Given the description of an element on the screen output the (x, y) to click on. 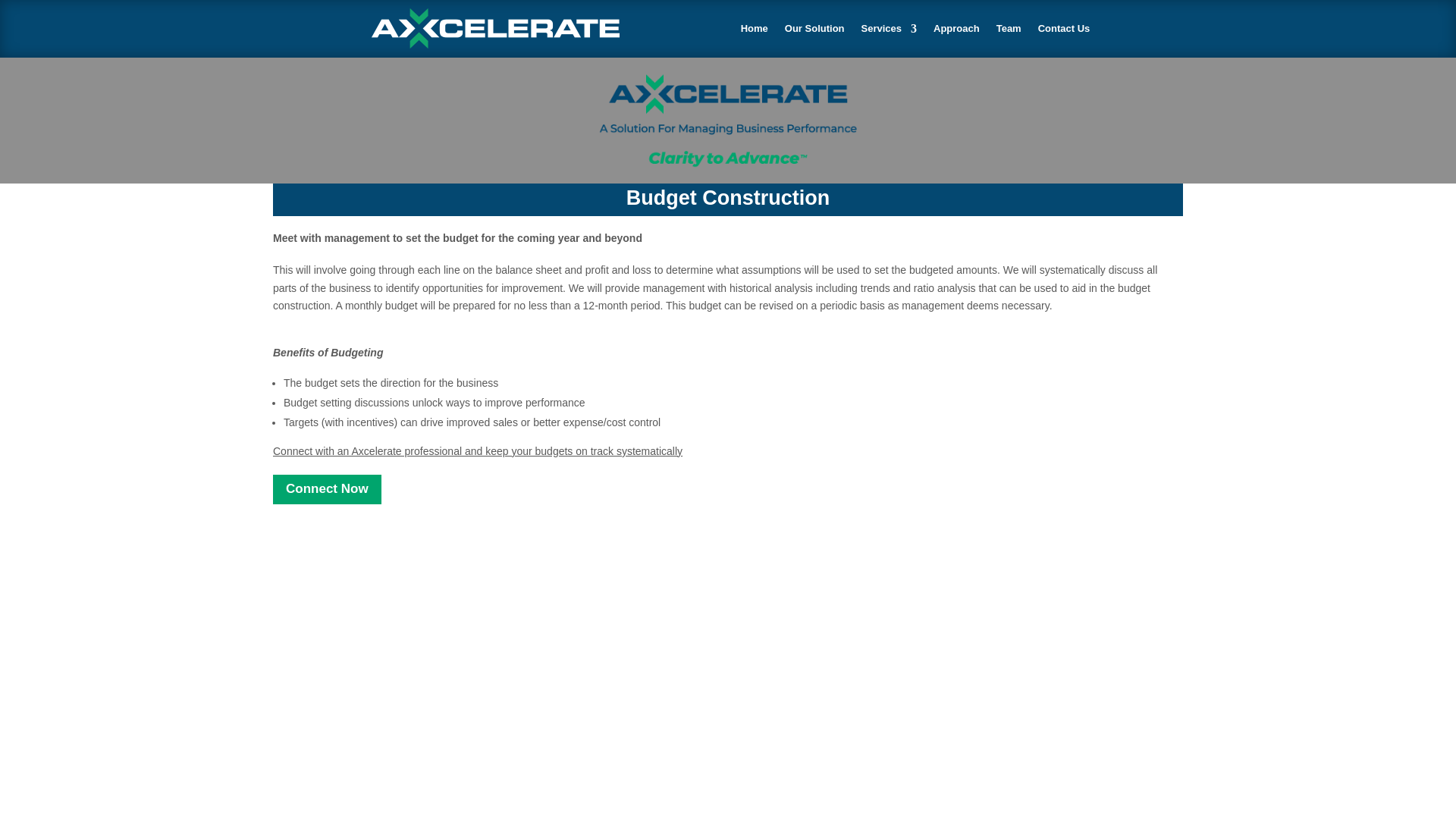
Our Solution (814, 28)
Services (889, 28)
Contact Us (1064, 28)
